Given the description of an element on the screen output the (x, y) to click on. 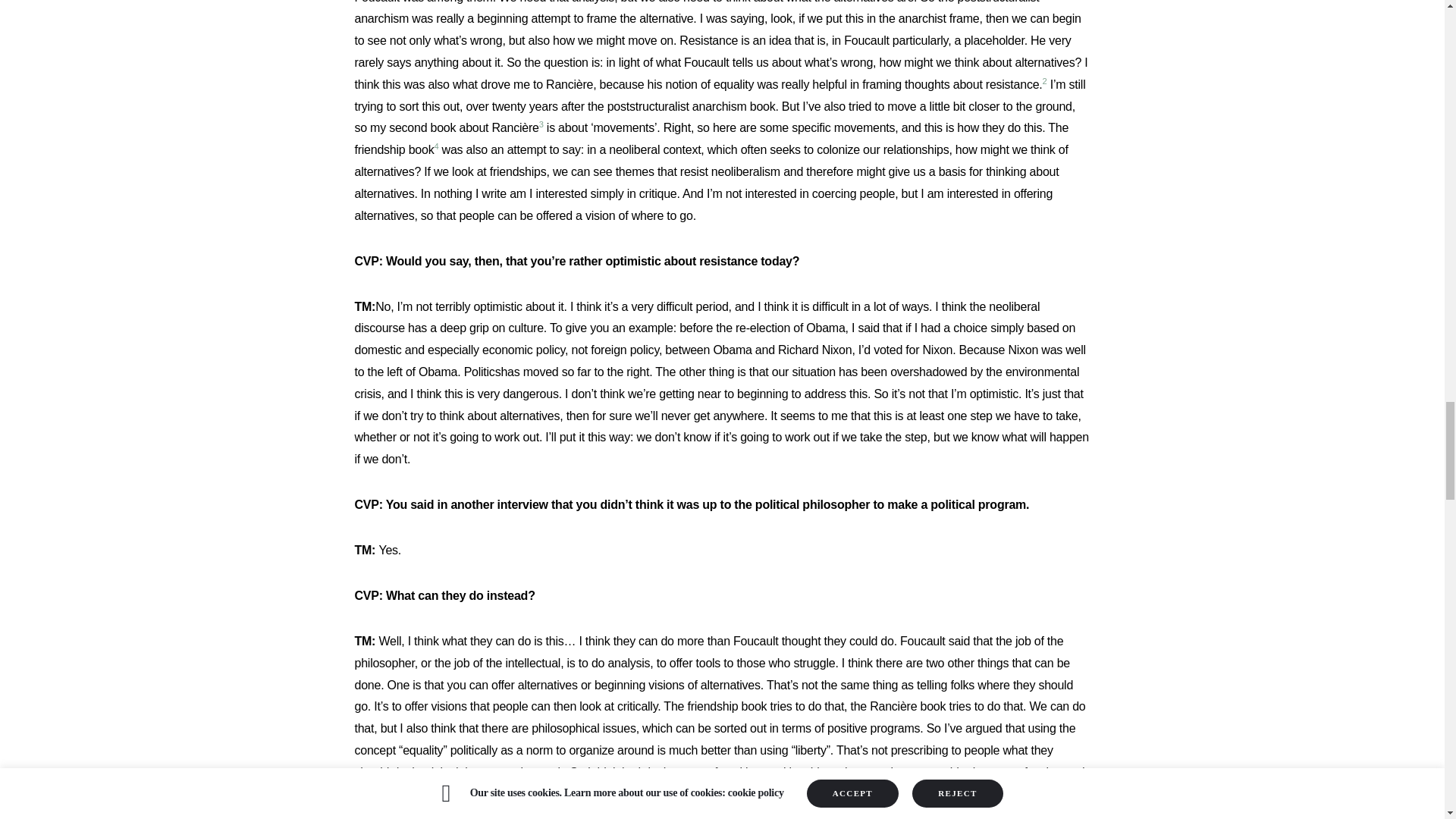
3 (540, 127)
4 (435, 149)
2 (1044, 83)
